Given the description of an element on the screen output the (x, y) to click on. 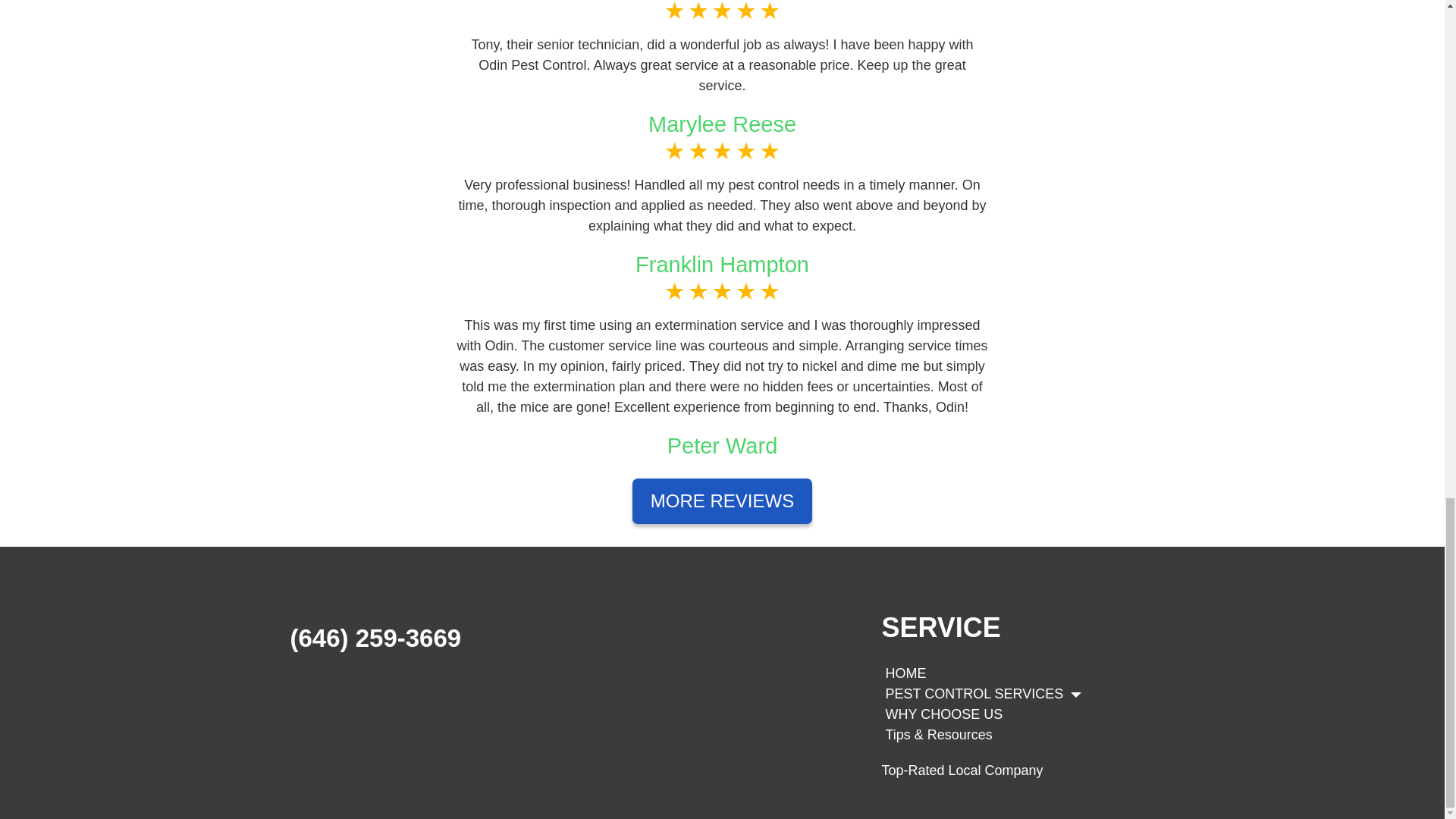
PEST CONTROL SERVICES (983, 693)
MORE REVIEWS (721, 501)
WHY CHOOSE US (944, 713)
HOME (905, 672)
